Given the description of an element on the screen output the (x, y) to click on. 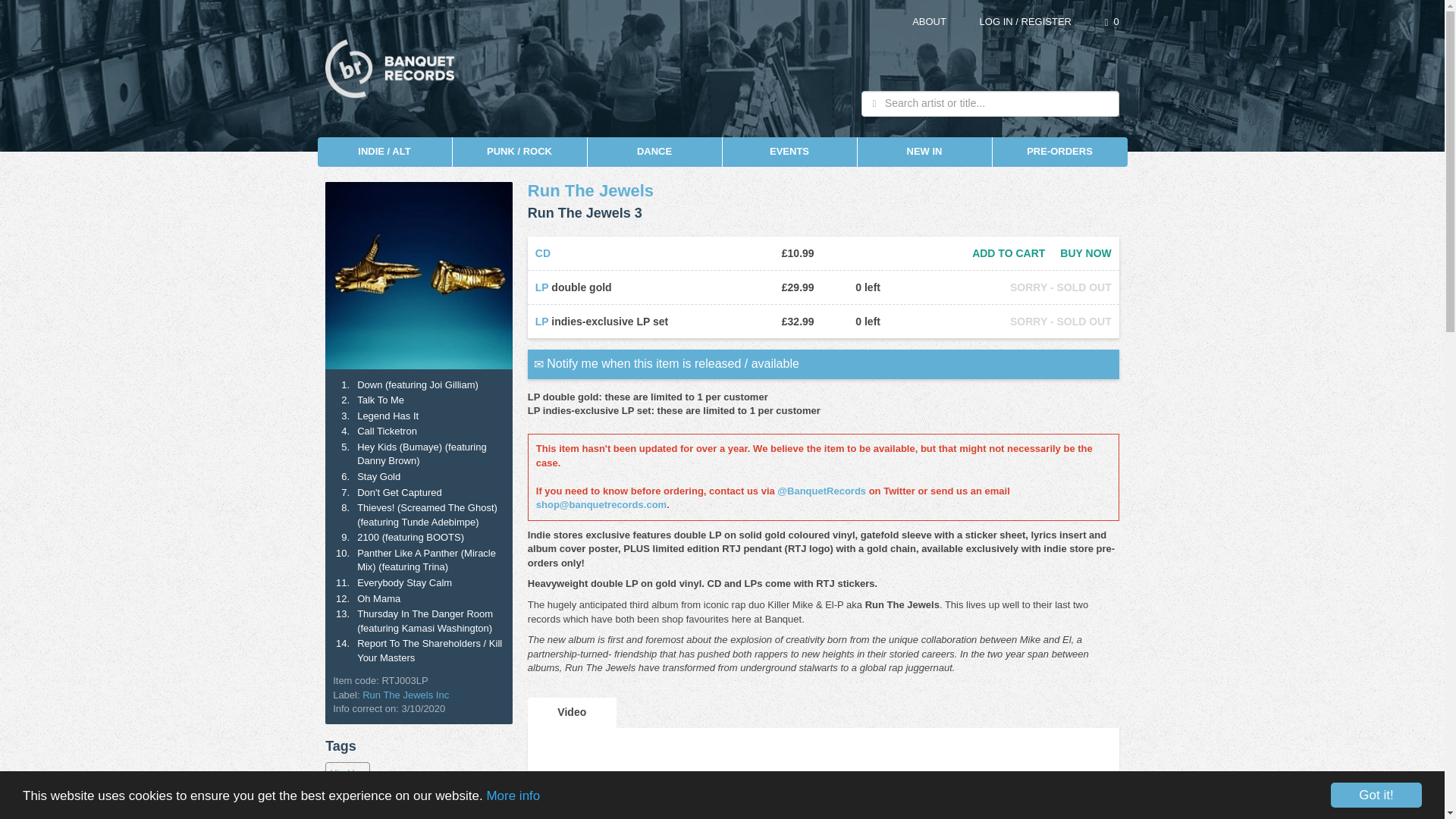
ABOUT (929, 21)
NEW IN (924, 152)
REGISTER (1045, 21)
Hip Hop (346, 773)
LOG IN (996, 21)
DANCE (653, 152)
Run The Jewels Inc (405, 695)
PRE-ORDERS (1058, 152)
Run The Jewels (590, 189)
Banquet Records (389, 67)
ADD TO CART (1008, 253)
EVENTS (789, 152)
BUY NOW (1077, 253)
  0 (1112, 21)
